Given the description of an element on the screen output the (x, y) to click on. 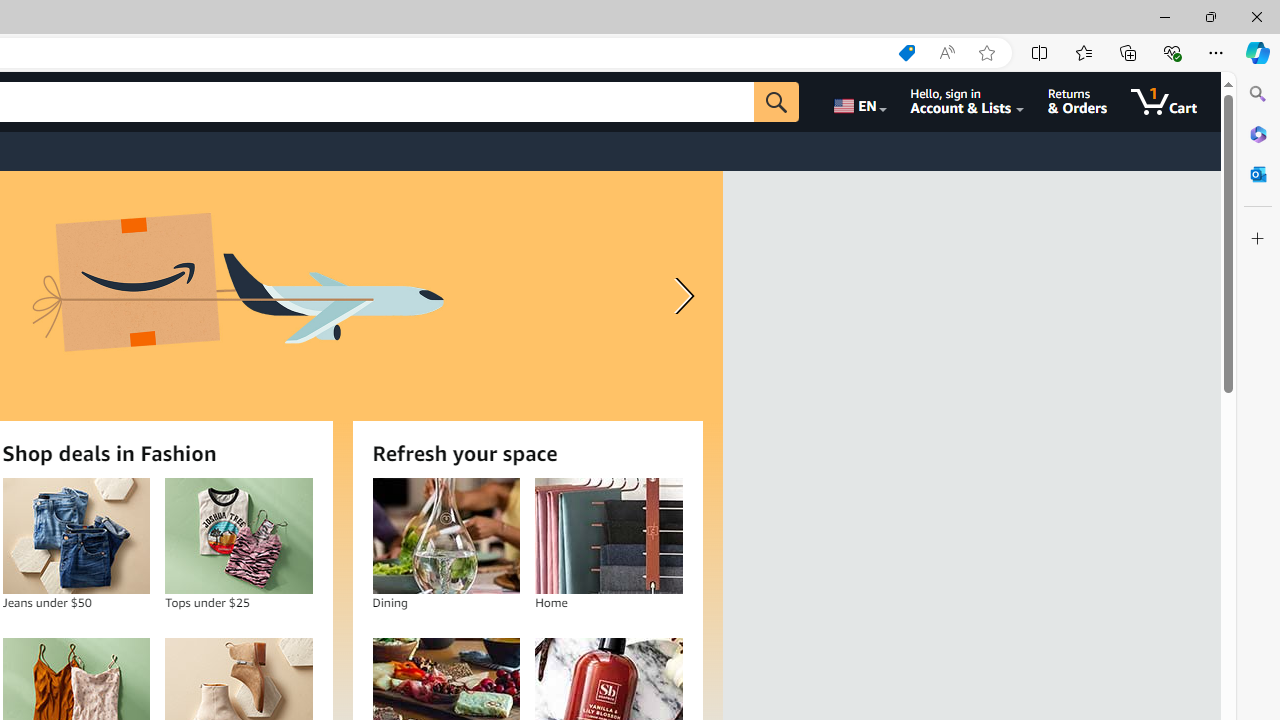
Tops under $25 (239, 536)
1 item in cart (1163, 101)
Dining (445, 536)
Go (776, 101)
